Given the description of an element on the screen output the (x, y) to click on. 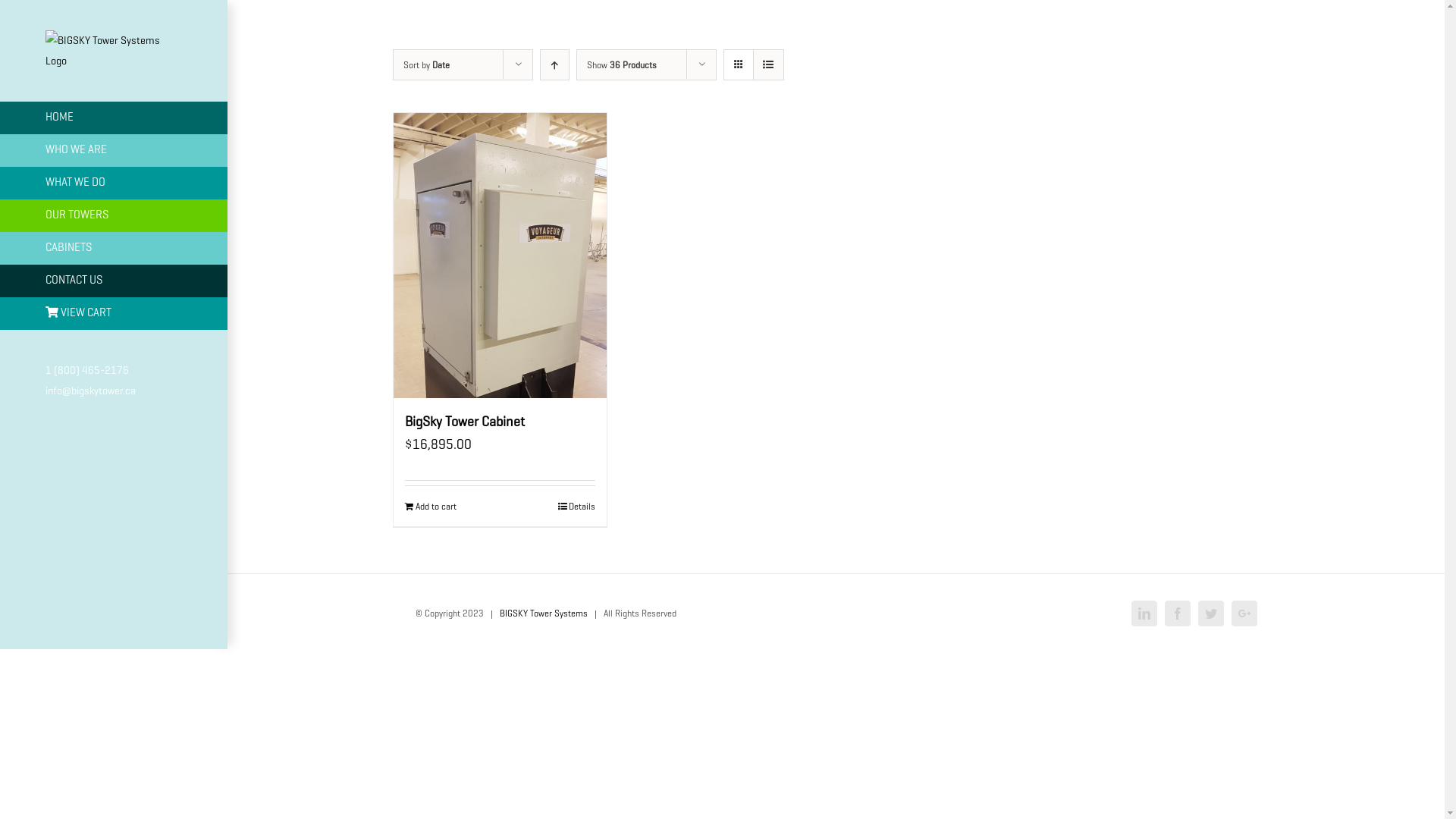
HOME Element type: text (113, 117)
Sort by Date Element type: text (426, 64)
CONTACT US Element type: text (113, 280)
VIEW CART Element type: text (113, 313)
Show 36 Products Element type: text (621, 64)
BIGSKY Tower Systems Element type: text (542, 612)
Twitter Element type: text (1210, 613)
Details Element type: text (576, 505)
OUR TOWERS Element type: text (113, 215)
Add to cart Element type: text (430, 505)
WHO WE ARE Element type: text (113, 150)
info@bigskytower.ca Element type: text (90, 390)
Facebook Element type: text (1177, 613)
LinkedIn Element type: text (1144, 613)
Google+ Element type: text (1244, 613)
WHAT WE DO Element type: text (113, 182)
CABINETS Element type: text (113, 248)
BigSky Tower Cabinet Element type: text (464, 421)
